Given the description of an element on the screen output the (x, y) to click on. 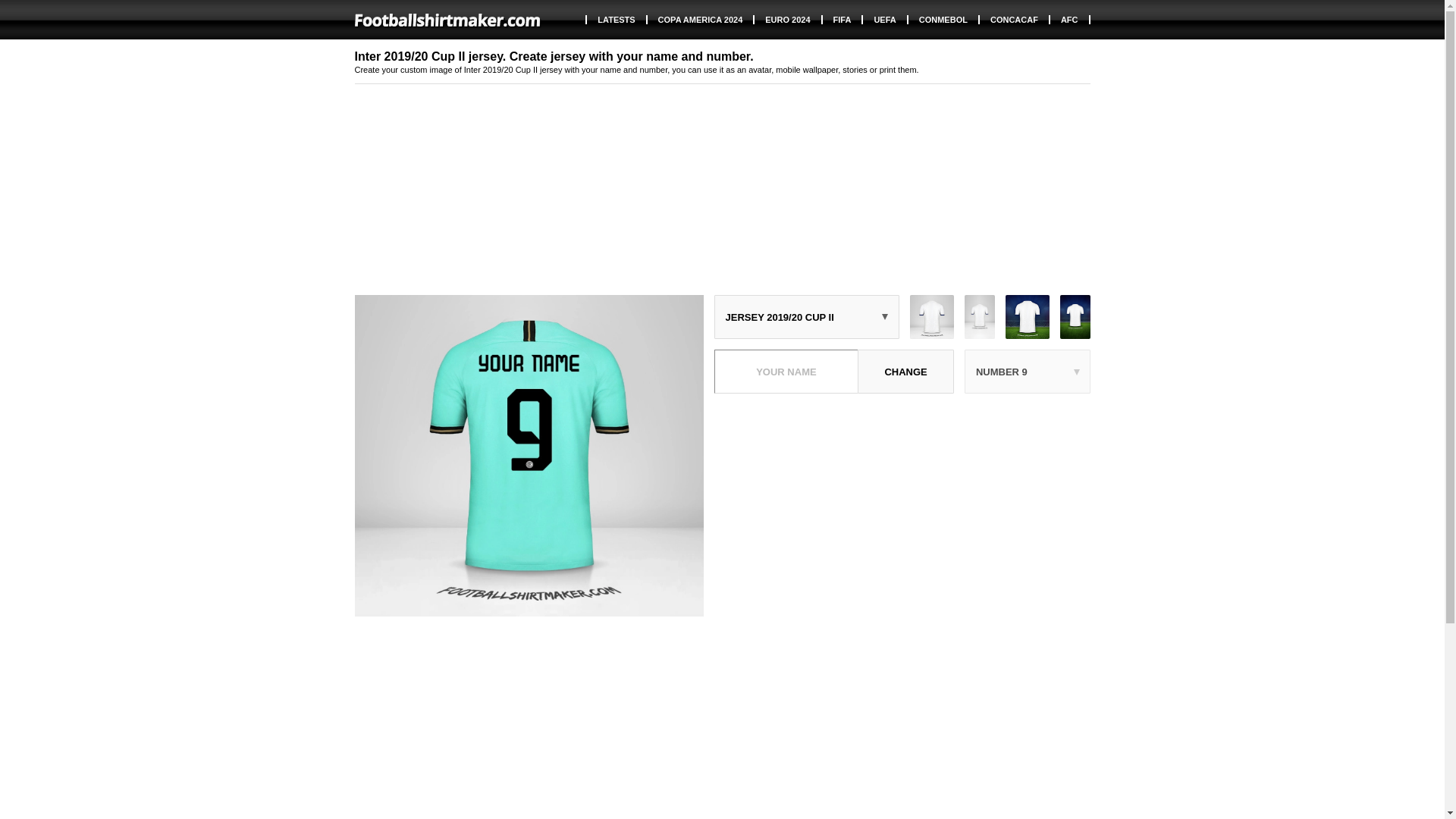
Advertisement (902, 510)
CONMEBOL (943, 19)
CONCACAF (1014, 19)
CHANGE (905, 371)
AFC (1069, 19)
CHANGE (905, 371)
LATESTS (616, 19)
COPA AMERICA 2024 (701, 19)
UEFA (885, 19)
EURO 2024 (788, 19)
FIFA (842, 19)
